Given the description of an element on the screen output the (x, y) to click on. 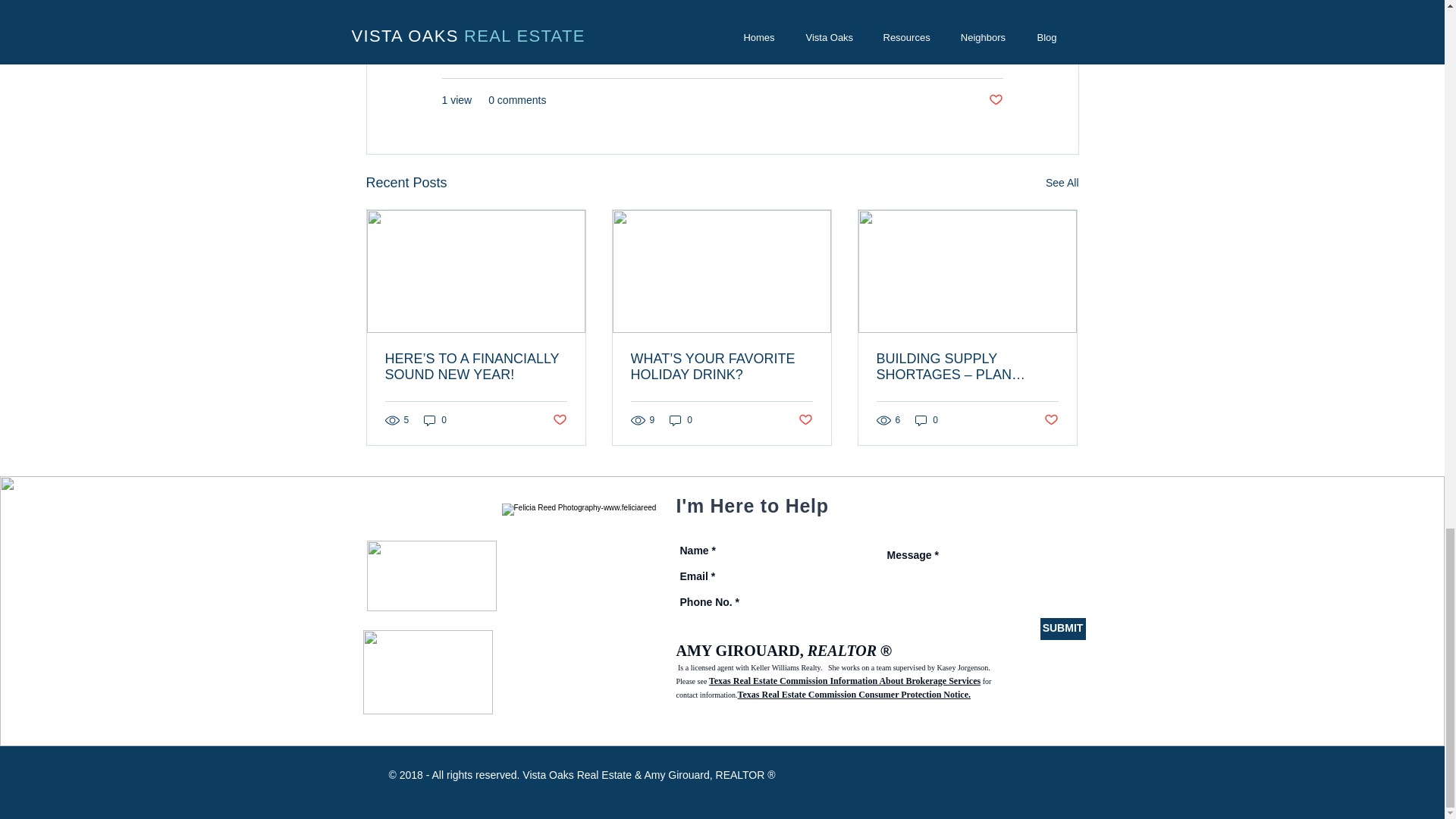
Texas Real Estate Commission Consumer Protection Notice. (854, 695)
0 (926, 420)
Post not marked as liked (804, 420)
0 (435, 420)
0 (681, 420)
Post not marked as liked (558, 420)
Post not marked as liked (995, 100)
SUBMIT (1063, 628)
Post not marked as liked (1050, 420)
